Given the description of an element on the screen output the (x, y) to click on. 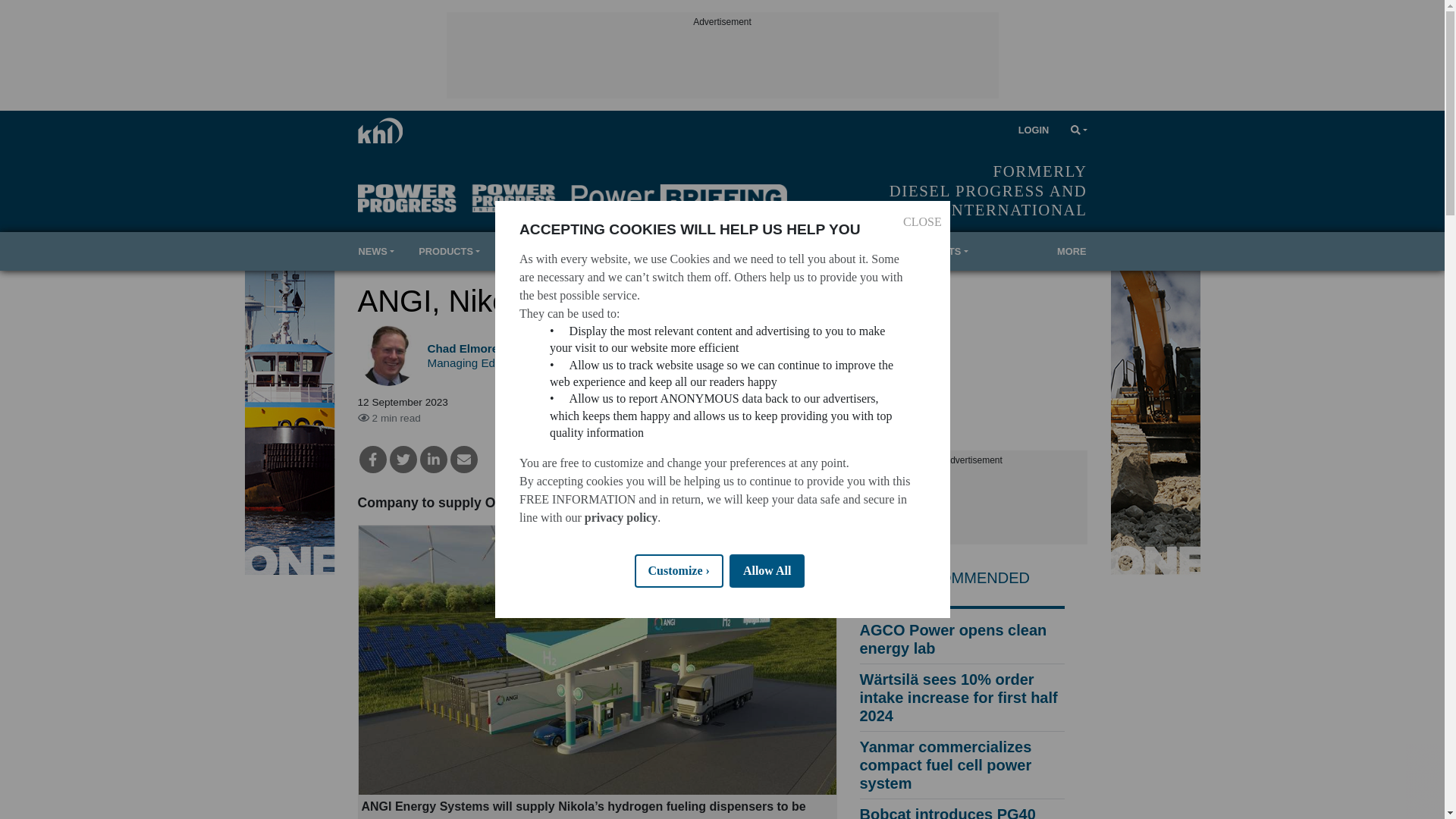
Share this page via email (463, 459)
Share this page on Facebook (373, 459)
Share this page on Linkedin (433, 459)
3rd party ad content (721, 64)
3rd party ad content (973, 506)
Share this page on Twitter (403, 459)
